Given the description of an element on the screen output the (x, y) to click on. 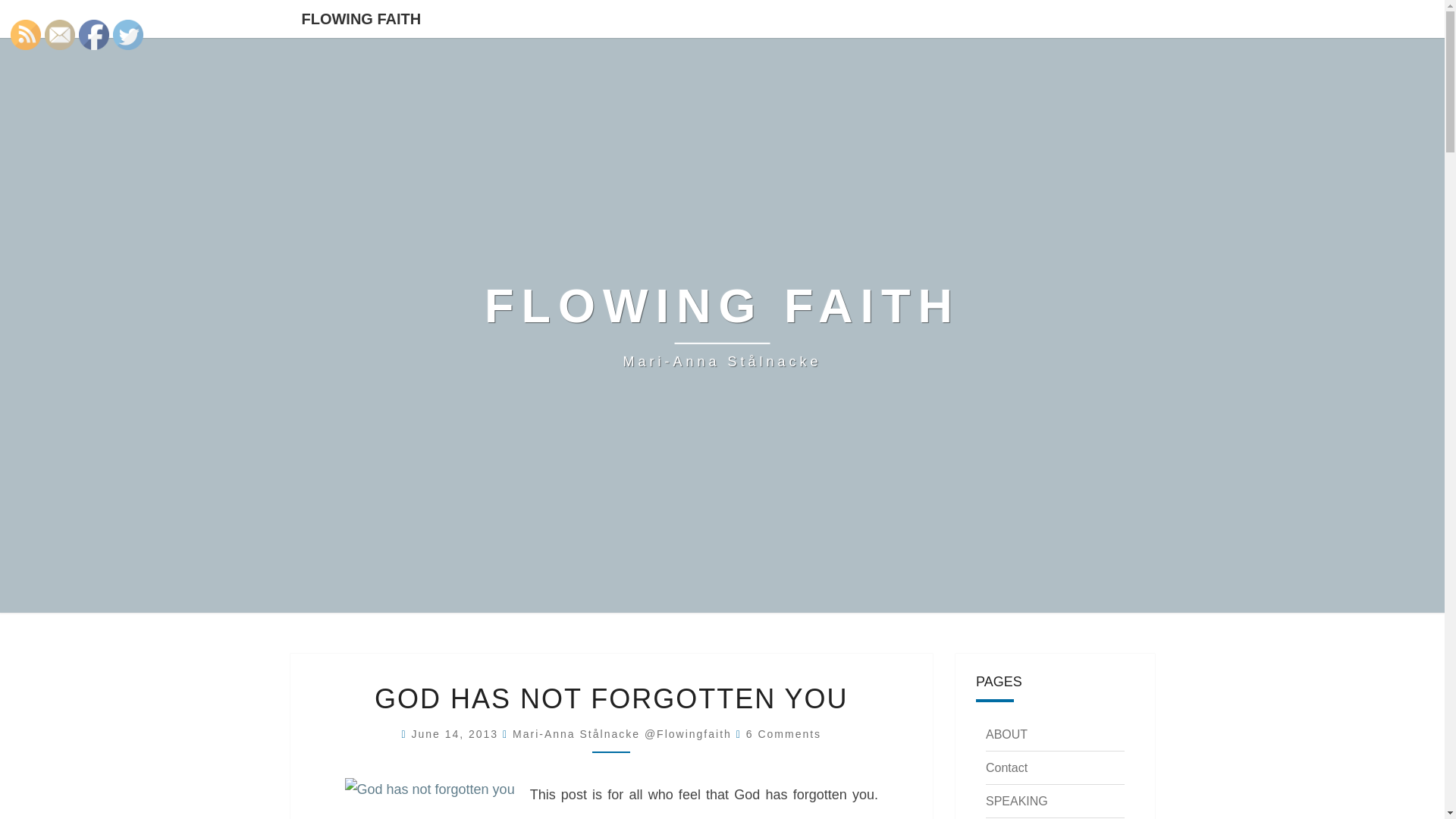
6 Comments (783, 734)
Twitter (127, 34)
FLOWING FAITH (360, 18)
Follow by Email (60, 34)
1:53 pm (456, 734)
RSS (25, 34)
Flowing Faith (721, 325)
Facebook (93, 34)
June 14, 2013 (456, 734)
